Given the description of an element on the screen output the (x, y) to click on. 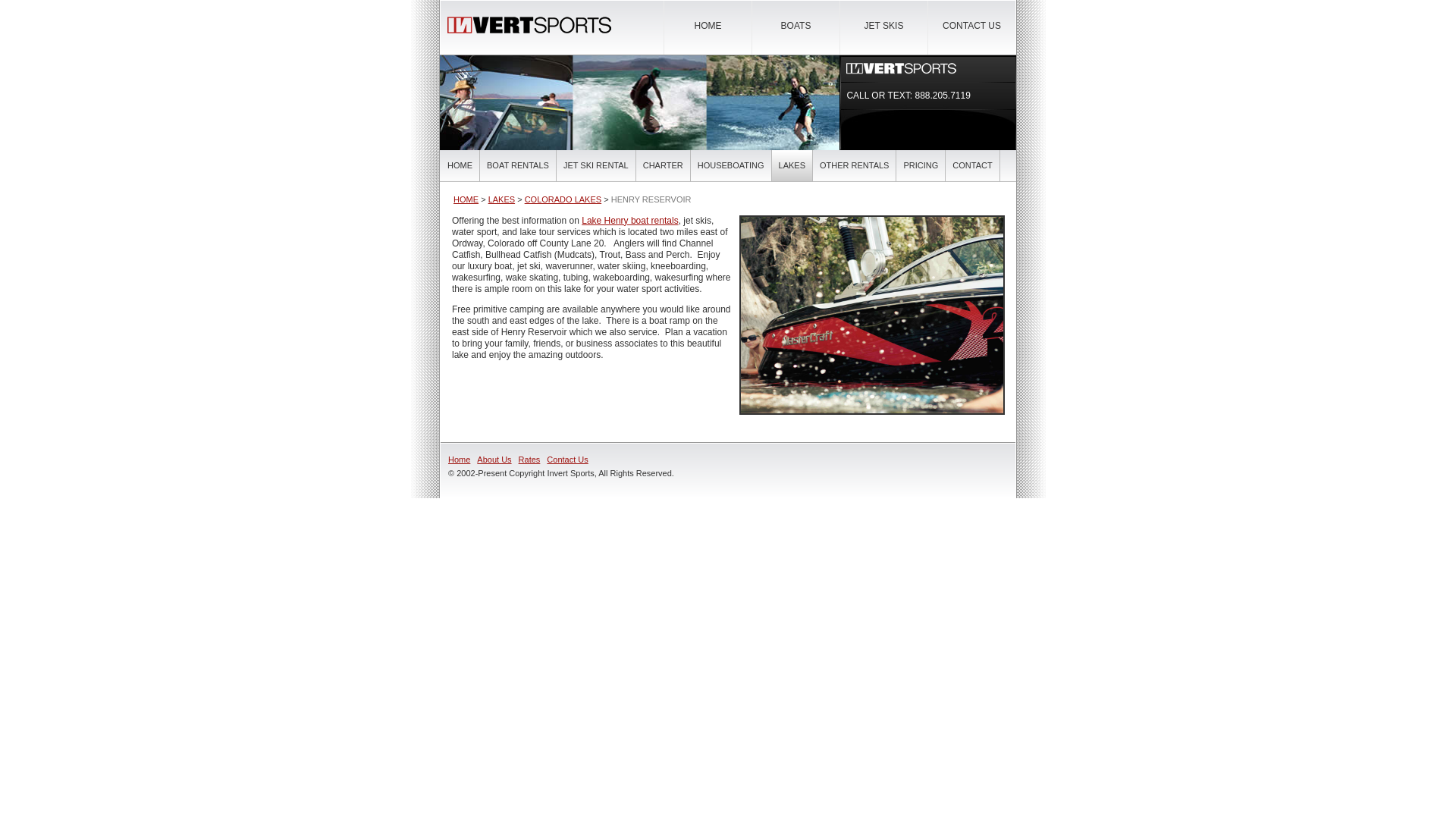
BOATS (796, 25)
HOME (707, 25)
CONTACT US (971, 25)
Boat Rentals (629, 220)
888.205.7119 (941, 95)
Henry Reservoir (871, 315)
HOME (460, 164)
JET SKIS (883, 25)
